Given the description of an element on the screen output the (x, y) to click on. 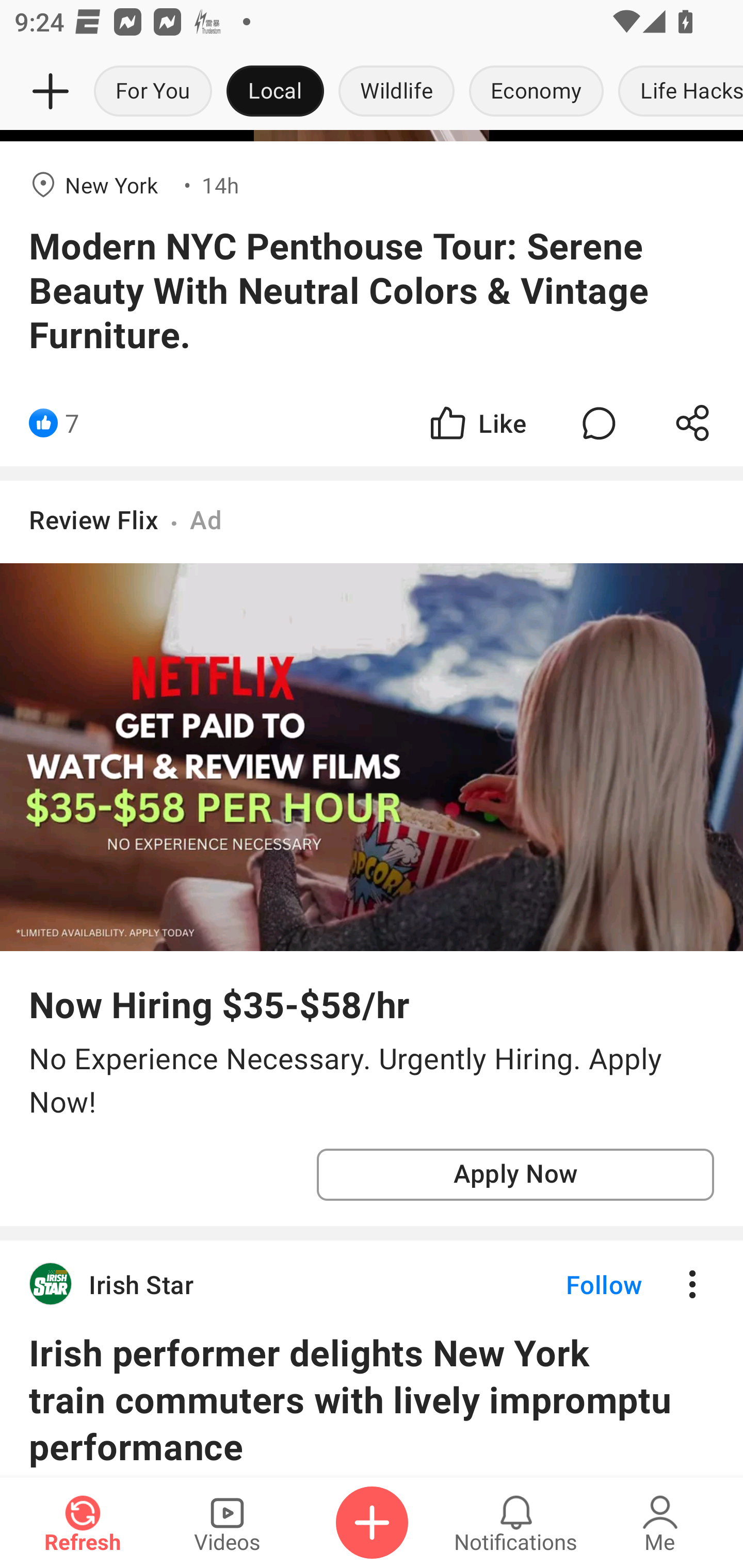
For You (152, 91)
Local (275, 91)
Wildlife (396, 91)
Economy (536, 91)
Life Hacks (676, 91)
7 (72, 422)
Like (476, 422)
Review Flix (93, 518)
Now Hiring $35-$58/hr (219, 1004)
Apply Now (515, 1175)
Irish Star Follow (371, 1284)
Follow (569, 1284)
Videos (227, 1522)
Notifications (516, 1522)
Me (659, 1522)
